Given the description of an element on the screen output the (x, y) to click on. 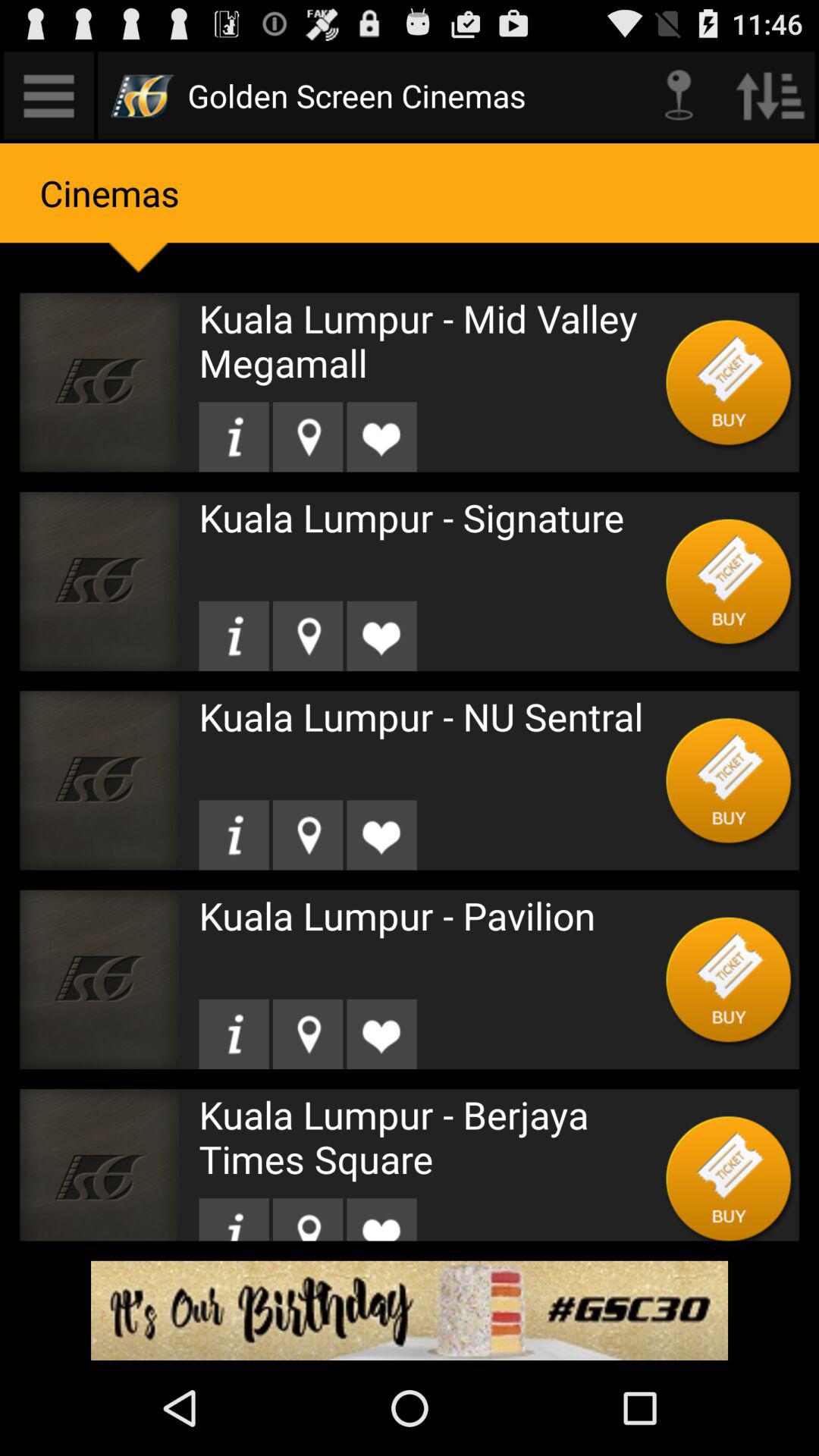
get more information (234, 1034)
